Given the description of an element on the screen output the (x, y) to click on. 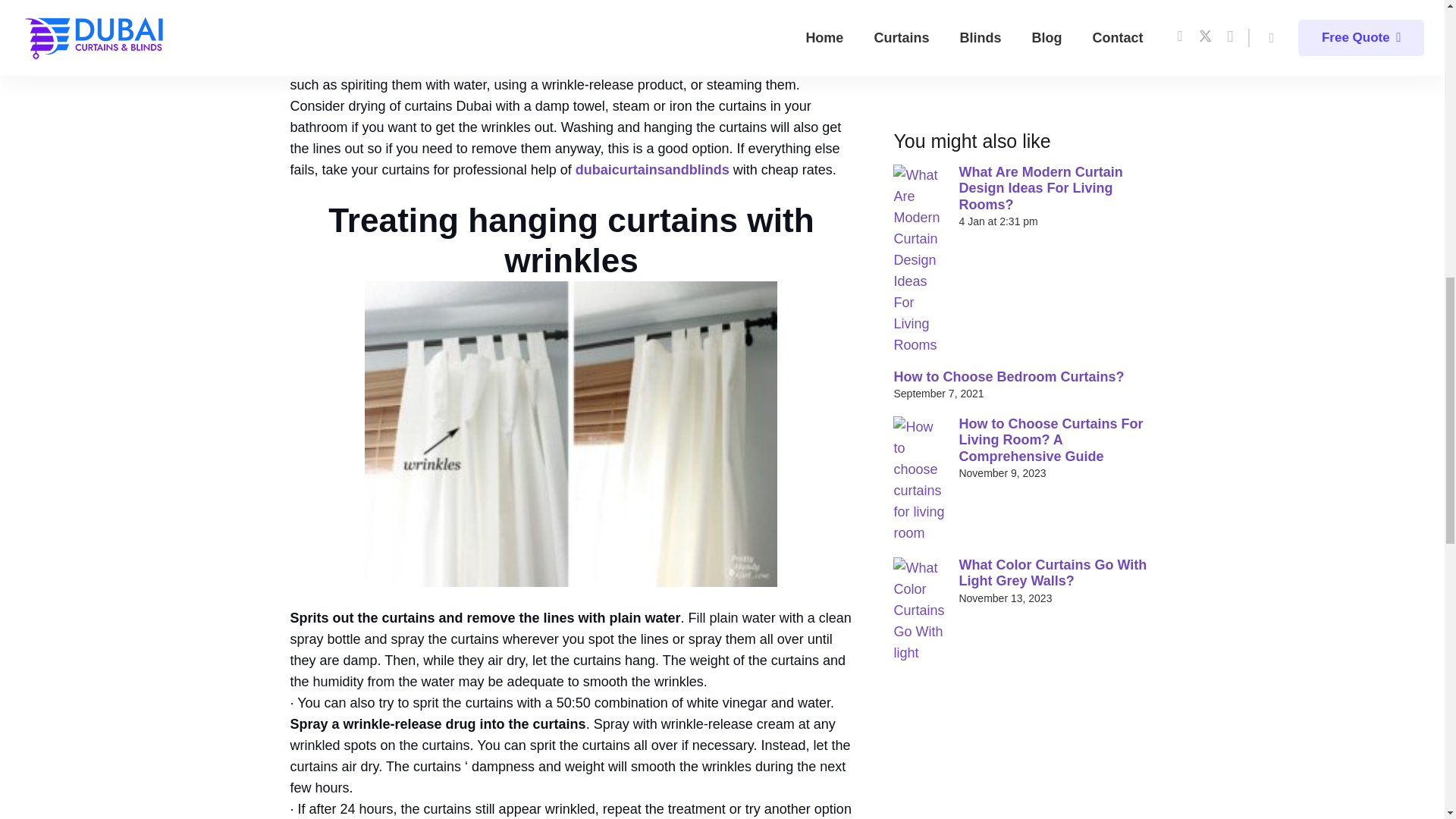
Spray a wrinkle-release drug into the curtains (437, 724)
 dubaicurtainsandblinds  (652, 169)
